Given the description of an element on the screen output the (x, y) to click on. 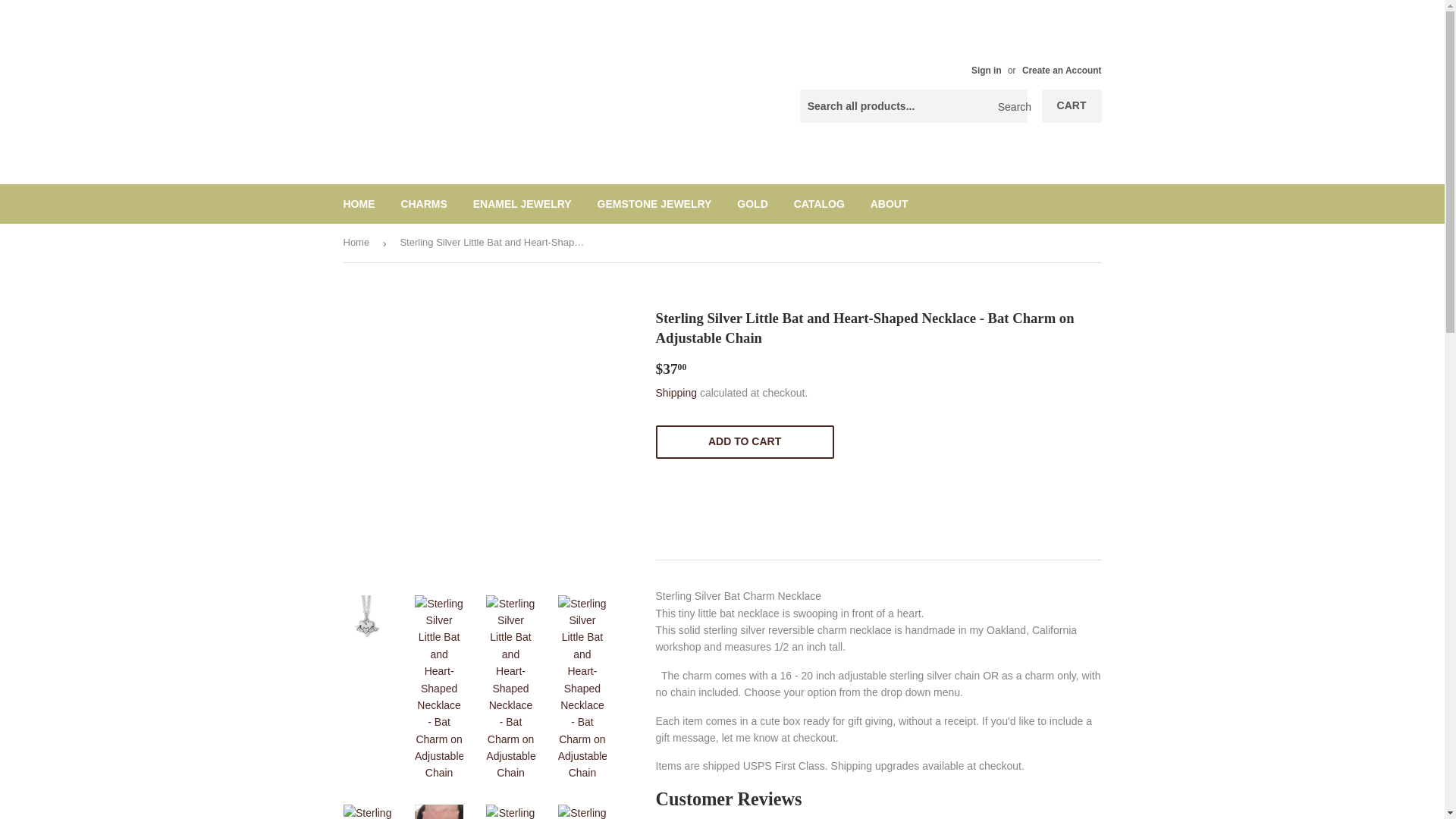
Search (1009, 106)
Sign in (986, 70)
Create an Account (1062, 70)
CART (1072, 105)
